Given the description of an element on the screen output the (x, y) to click on. 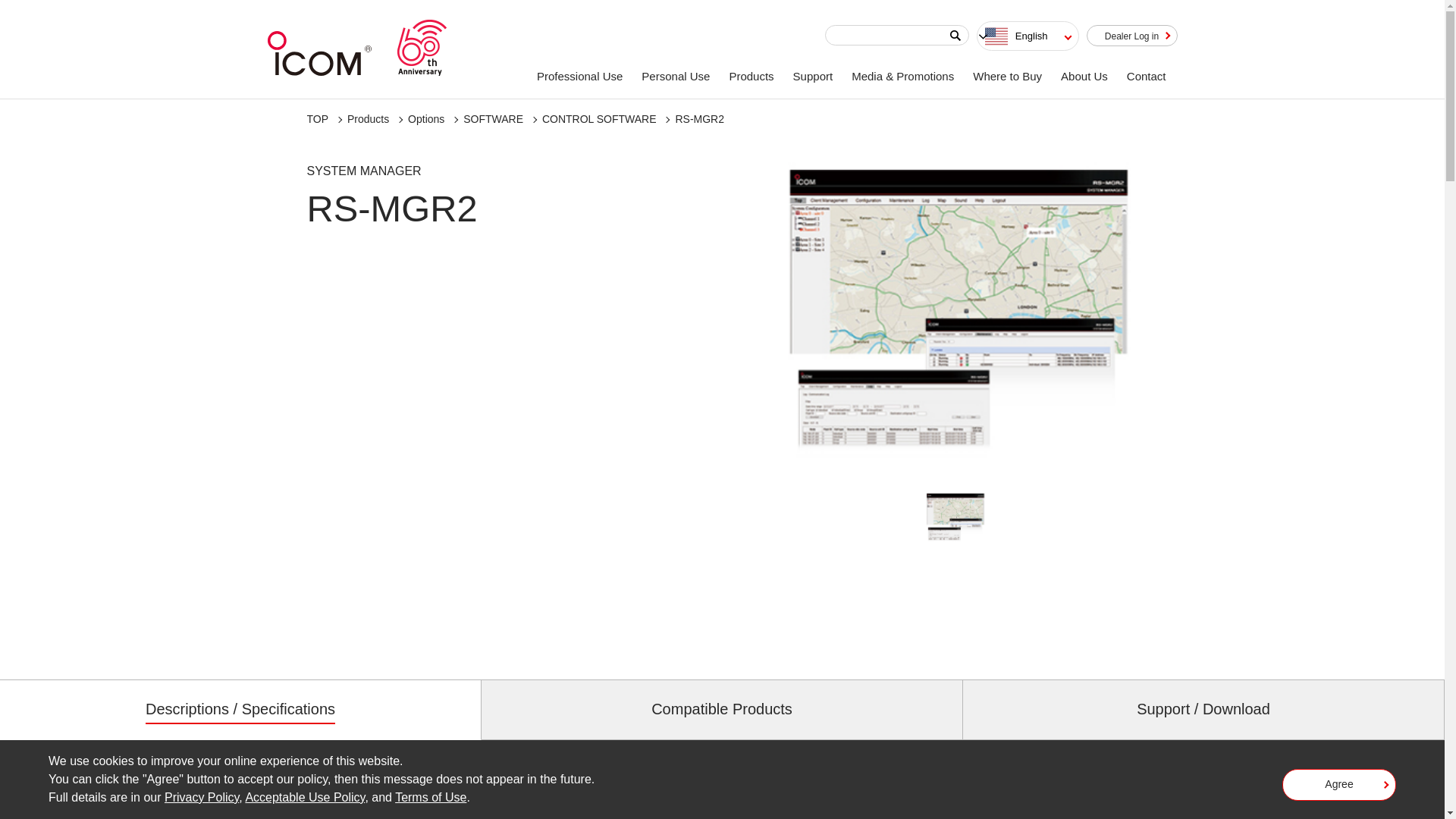
Contact (1148, 76)
Products (752, 76)
Professional Use (581, 76)
Options (425, 119)
Products (367, 119)
Where to Buy (1008, 76)
CONTROL SOFTWARE (598, 119)
Dealer Log in (1131, 35)
Compatible Products (721, 708)
RS-MGR2 (699, 119)
SOFTWARE (492, 119)
Support (815, 76)
TOP (317, 119)
English (1027, 35)
Personal Use (676, 76)
